Given the description of an element on the screen output the (x, y) to click on. 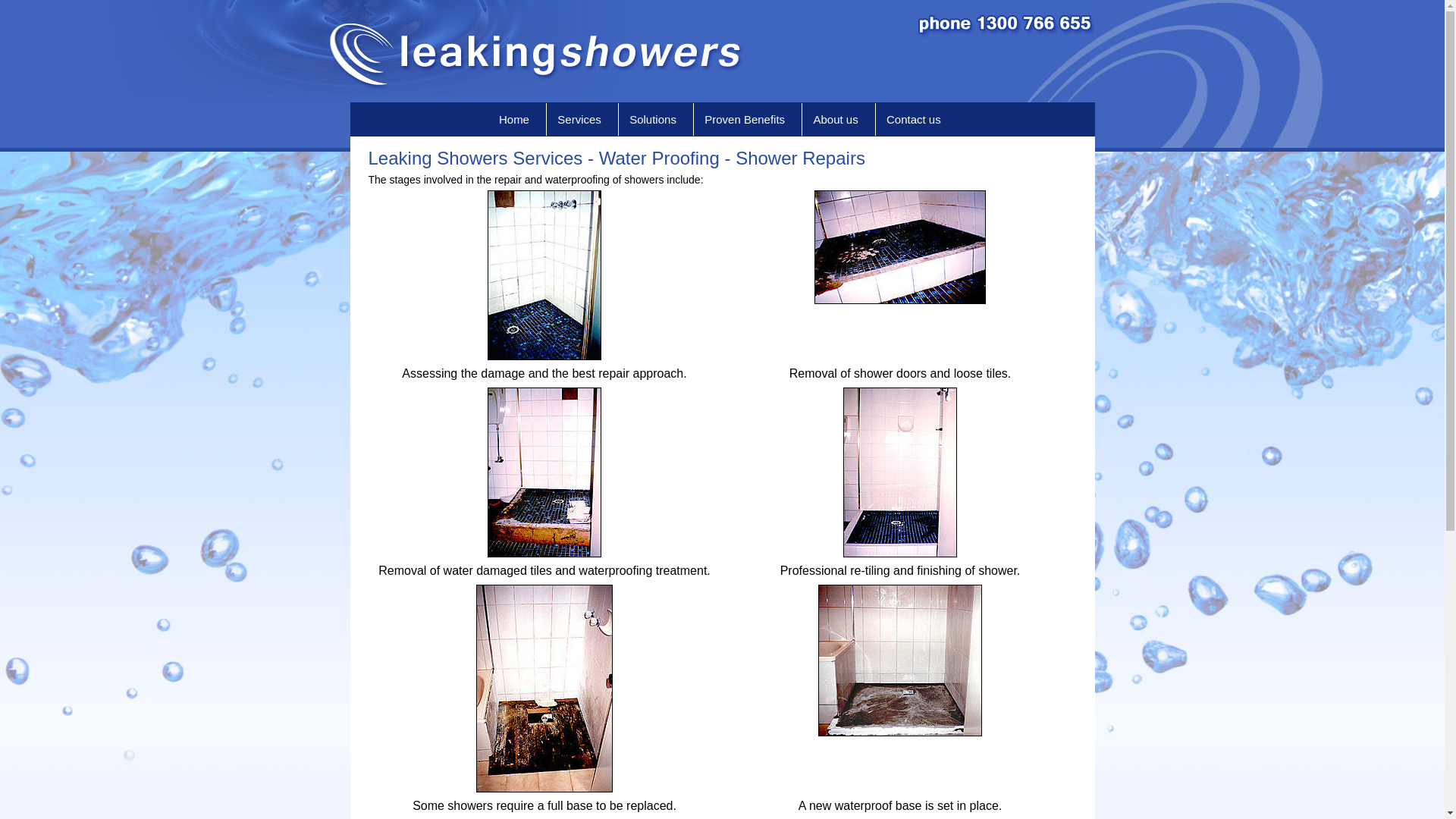
Services   Element type: text (582, 119)
Solutions   Element type: text (655, 119)
About us   Element type: text (838, 119)
Proven Benefits   Element type: text (747, 119)
Proven Benefits   Element type: text (747, 119)
Leaking Showers Element type: hover (722, 51)
Solutions   Element type: text (655, 119)
Home   Element type: text (517, 119)
About us   Element type: text (838, 119)
Leaking Showers Element type: hover (1091, 71)
Leaking Showers Element type: hover (353, 71)
Home   Element type: text (516, 119)
Services   Element type: text (582, 119)
Contact us   Element type: text (916, 119)
Contact us   Element type: text (916, 119)
